Given the description of an element on the screen output the (x, y) to click on. 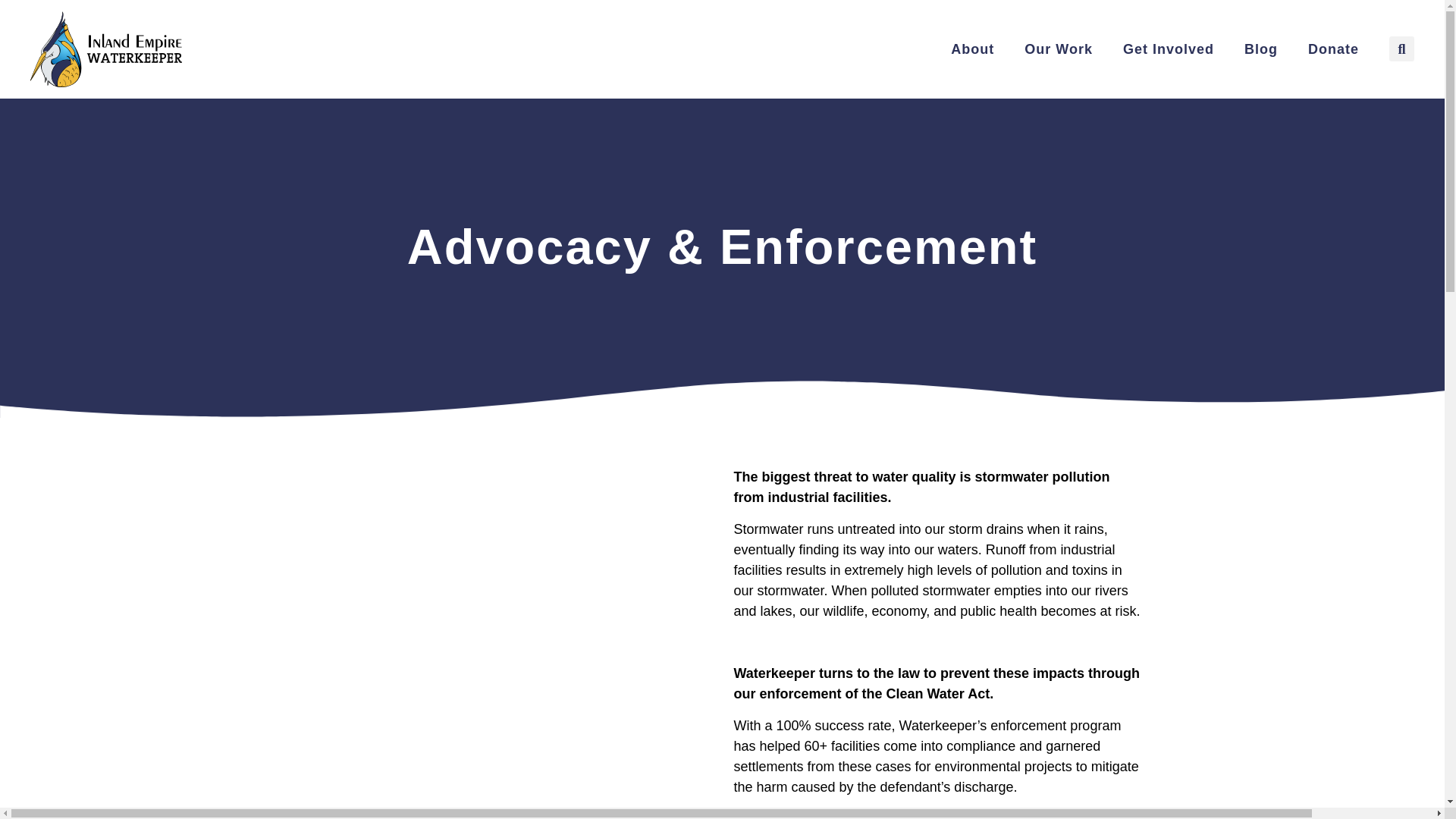
Blog (1260, 48)
Get Involved (1168, 48)
Our Work (1058, 48)
About (972, 48)
Donate (1333, 48)
